Given the description of an element on the screen output the (x, y) to click on. 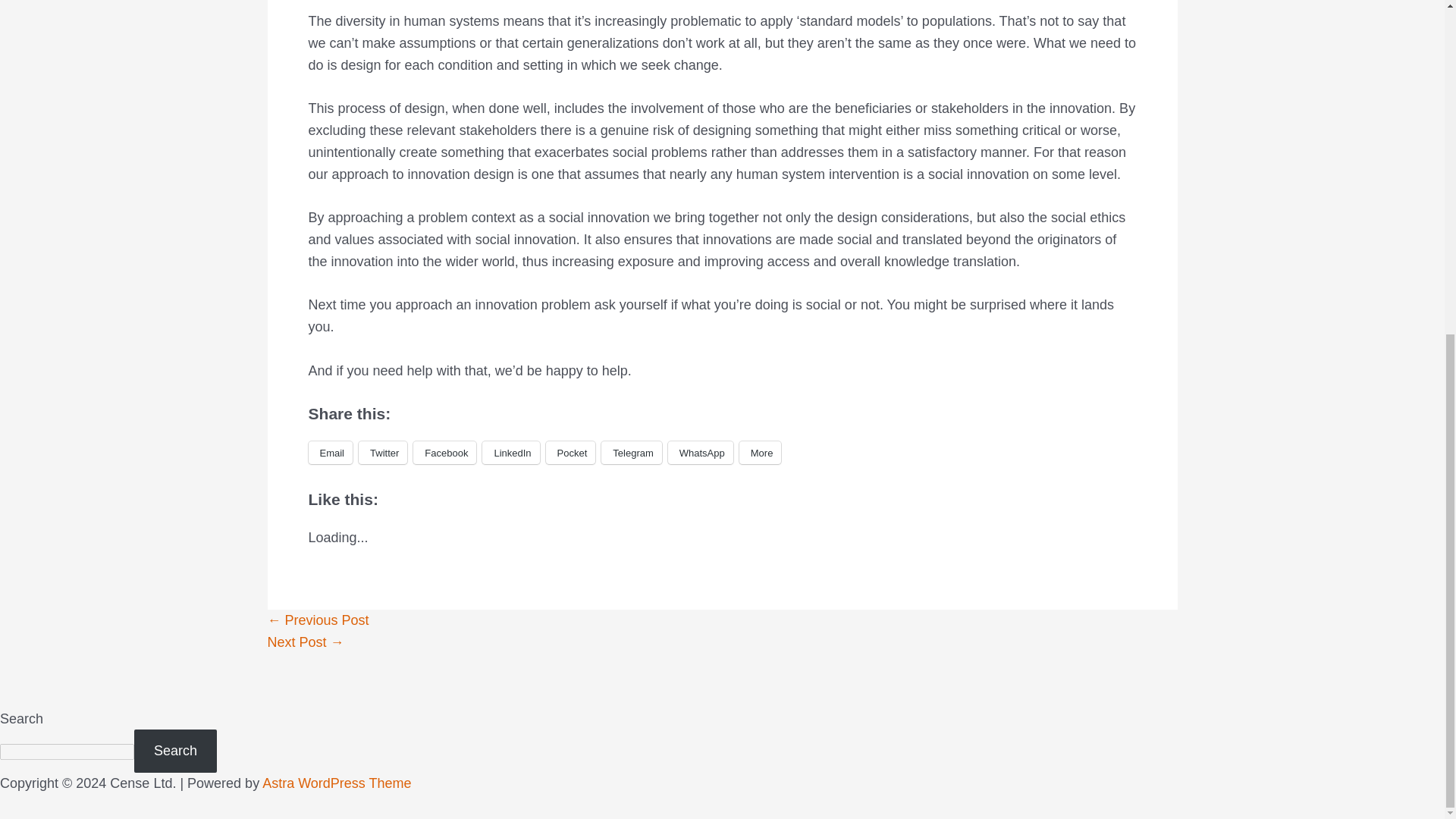
Click to email a link to a friend (329, 452)
Facebook (444, 452)
Telegram (631, 452)
LinkedIn (509, 452)
Click to share on Pocket (570, 452)
Pocket (570, 452)
Click to share on Facebook (444, 452)
Click to share on Twitter (382, 452)
WhatsApp (700, 452)
More (760, 452)
Click to share on LinkedIn (509, 452)
Email (329, 452)
Twitter (382, 452)
Click to share on Telegram (631, 452)
Click to share on WhatsApp (700, 452)
